Given the description of an element on the screen output the (x, y) to click on. 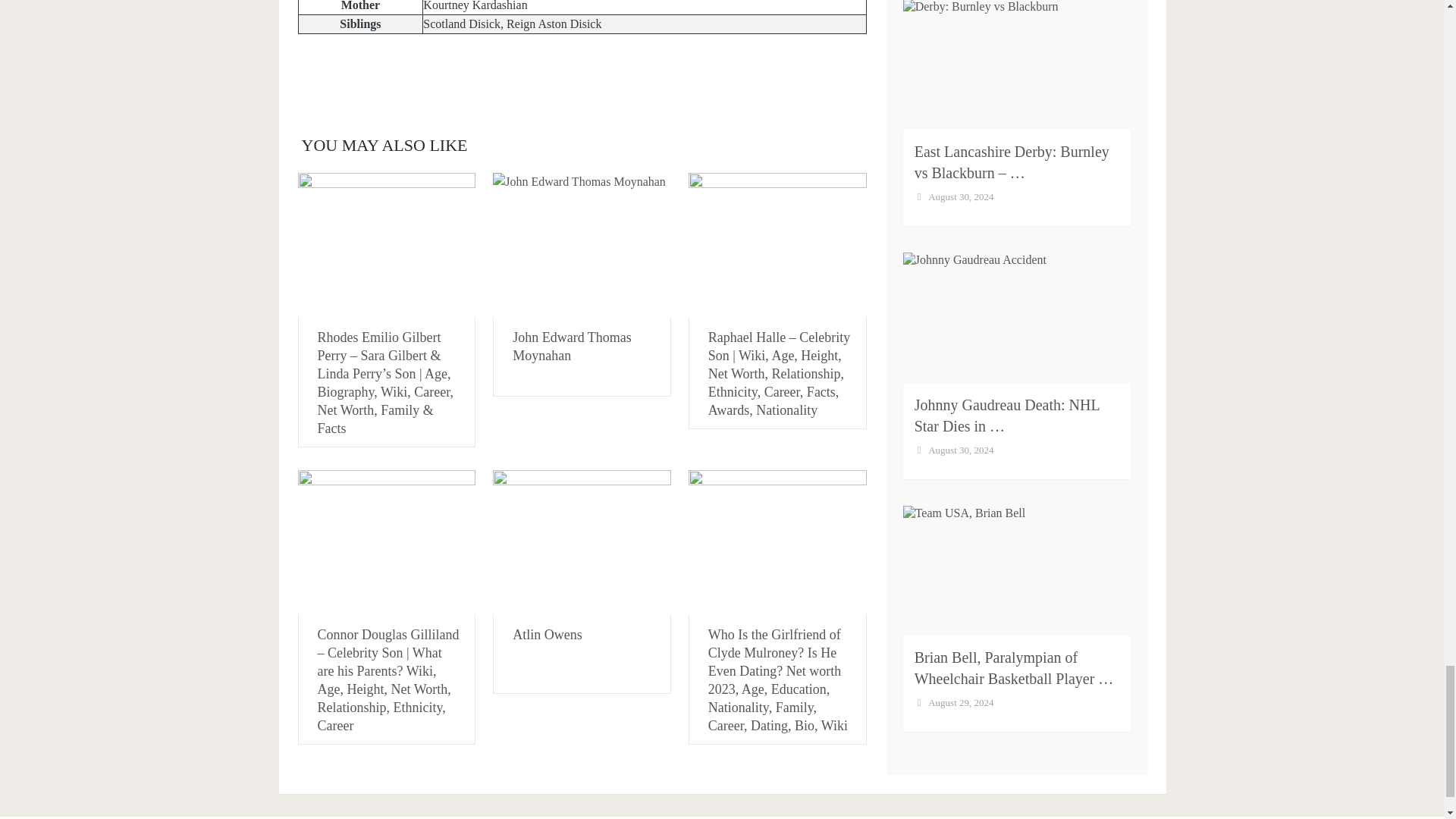
Atlin Owens (582, 542)
John Edward Thomas Moynahan (571, 346)
John Edward Thomas Moynahan (582, 244)
Atlin Owens (547, 634)
